Given the description of an element on the screen output the (x, y) to click on. 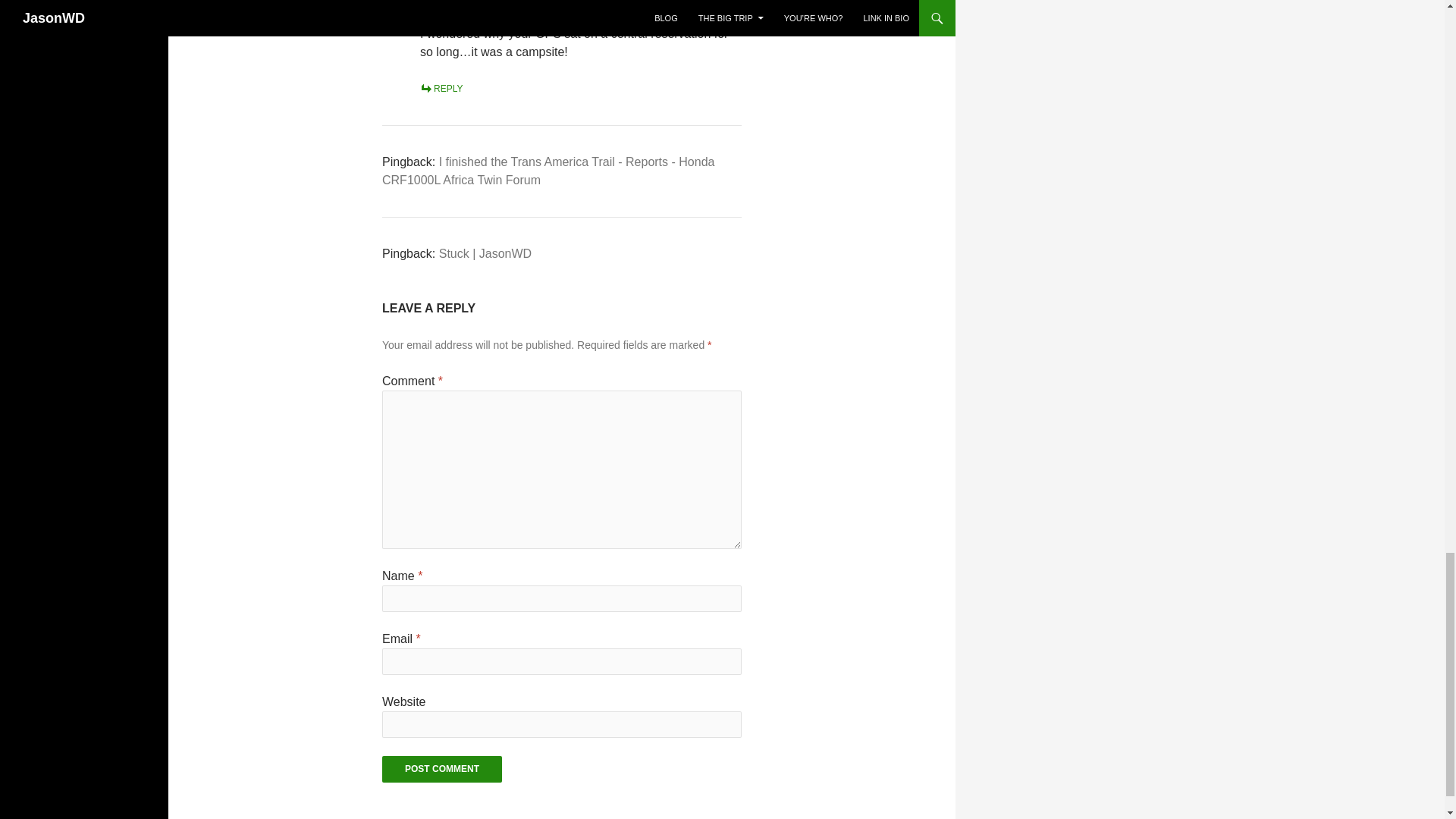
Post Comment (441, 768)
20TH JULY 2016 AT 9:29 AM (478, 15)
REPLY (441, 88)
Post Comment (441, 768)
